Given the description of an element on the screen output the (x, y) to click on. 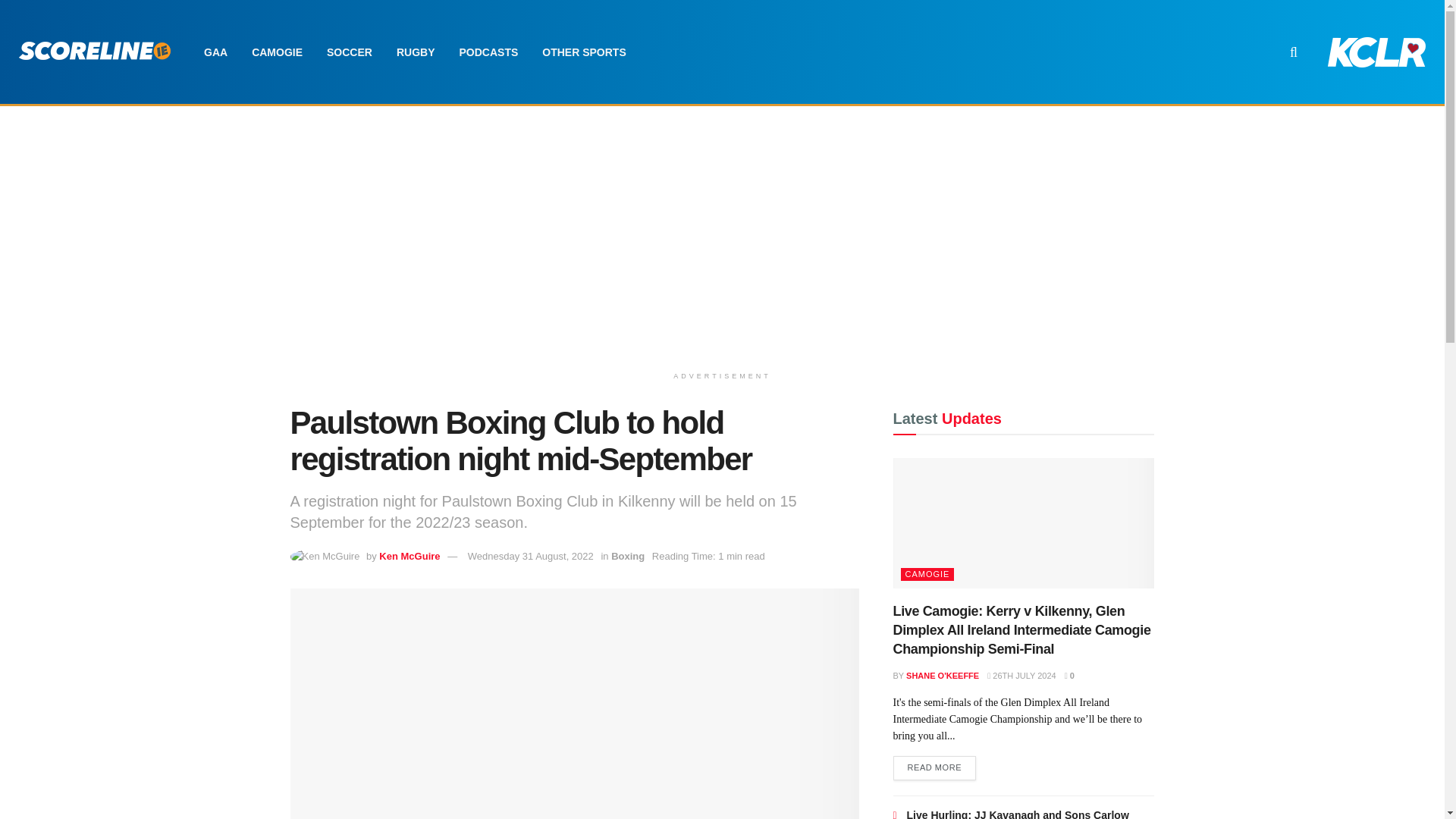
0 (1069, 675)
CAMOGIE (277, 52)
Wednesday 31 August, 2022 (530, 555)
READ MORE (934, 767)
OTHER SPORTS (583, 52)
RUGBY (415, 52)
CAMOGIE (928, 574)
SOCCER (349, 52)
Ken McGuire (408, 555)
26TH JULY 2024 (1021, 675)
SHANE O'KEEFFE (941, 675)
Boxing (628, 555)
PODCASTS (487, 52)
GAA (216, 52)
